Given the description of an element on the screen output the (x, y) to click on. 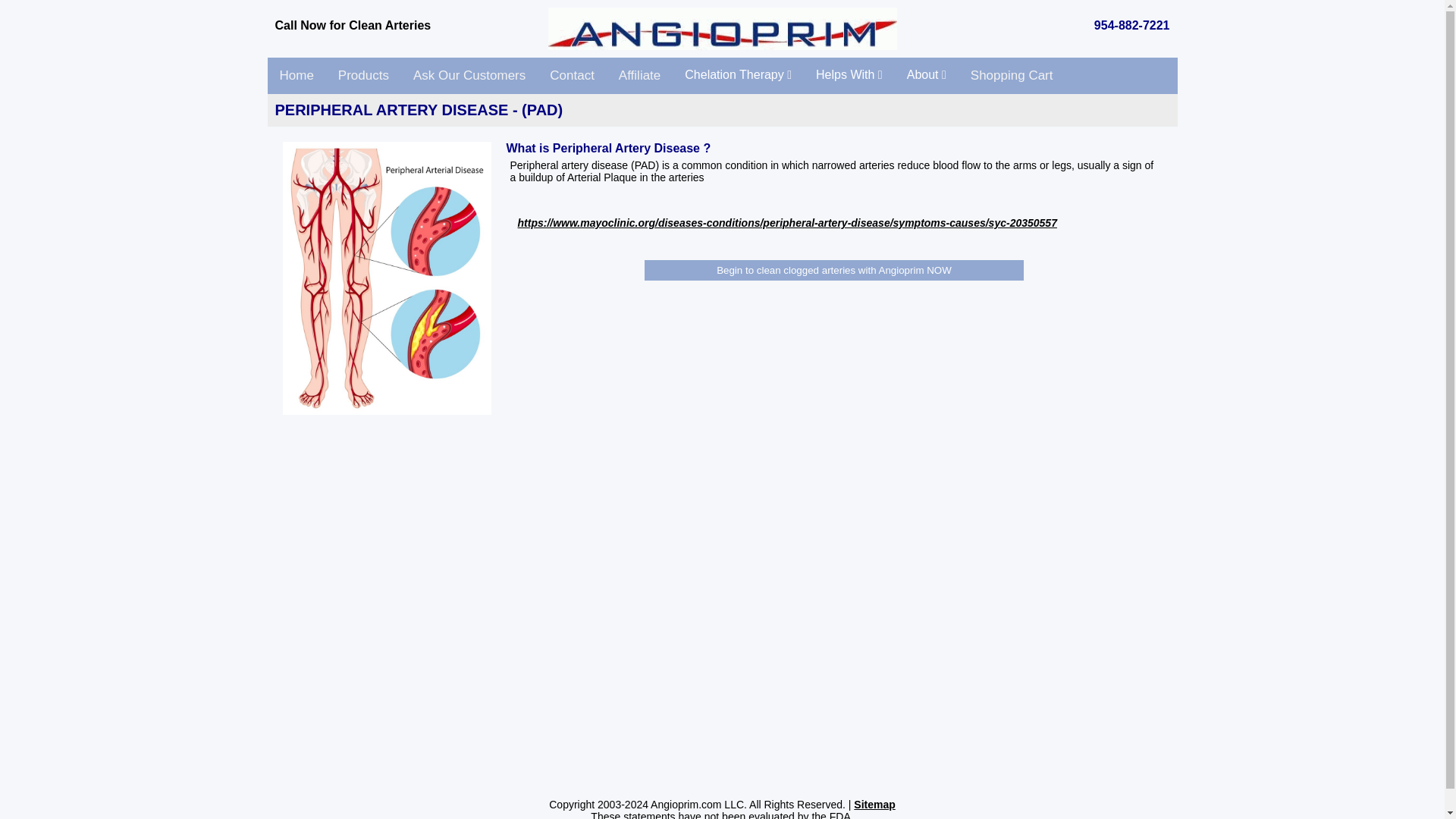
Ask Our Customers (469, 75)
Shopping Cart (1011, 75)
Chelation Therapy (737, 74)
Products (363, 75)
Begin to clean clogged arteries with Angioprim NOW (834, 270)
Affiliate (639, 75)
Contact (572, 75)
Home (295, 75)
Products (363, 75)
Affiliate (639, 75)
About (926, 74)
Clean blocked arteries (295, 75)
Ask Our Customers (469, 75)
Contact Us (572, 75)
Helps With (849, 74)
